Given the description of an element on the screen output the (x, y) to click on. 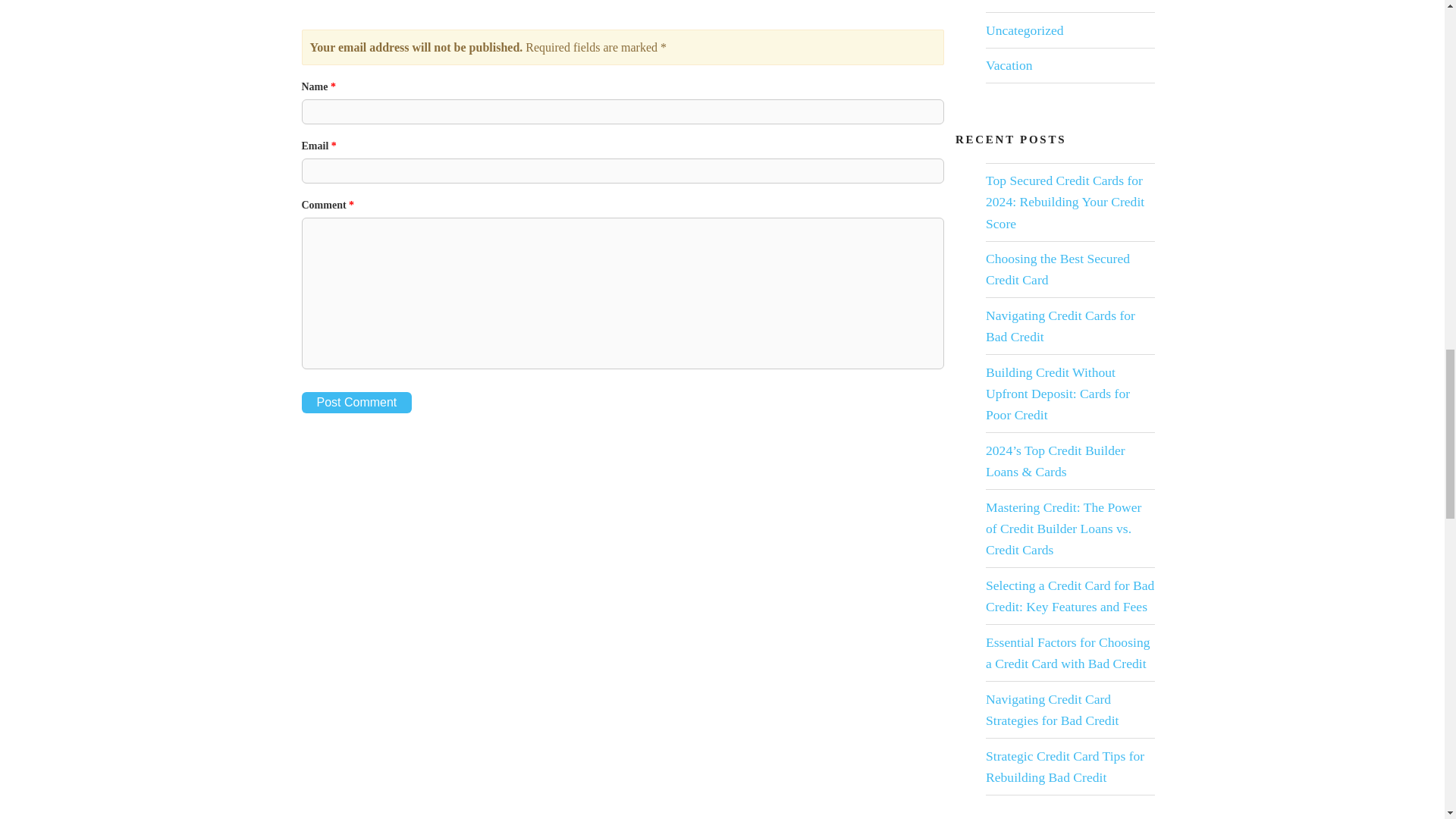
Post Comment (356, 402)
